Given the description of an element on the screen output the (x, y) to click on. 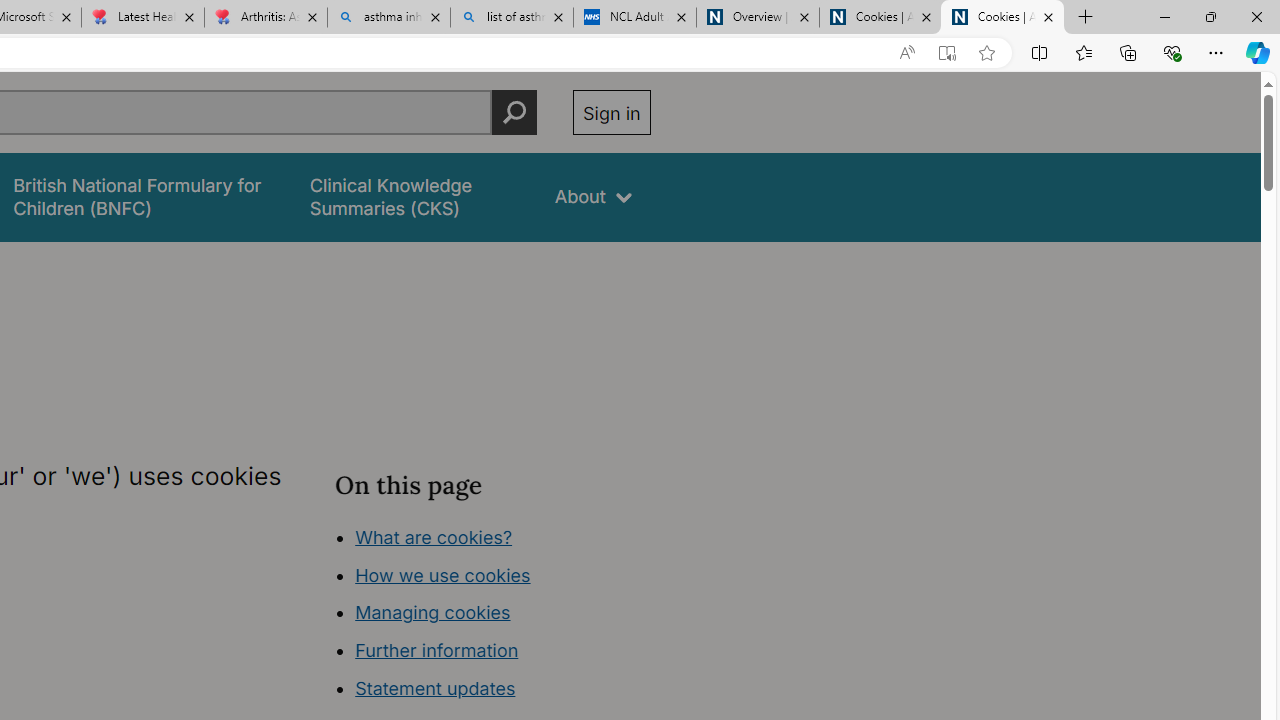
What are cookies? (433, 536)
Statement updates (434, 688)
Cookies | About | NICE (1002, 17)
Managing cookies (432, 612)
Sign in (611, 112)
list of asthma inhalers uk - Search (511, 17)
Arthritis: Ask Health Professionals (265, 17)
